Given the description of an element on the screen output the (x, y) to click on. 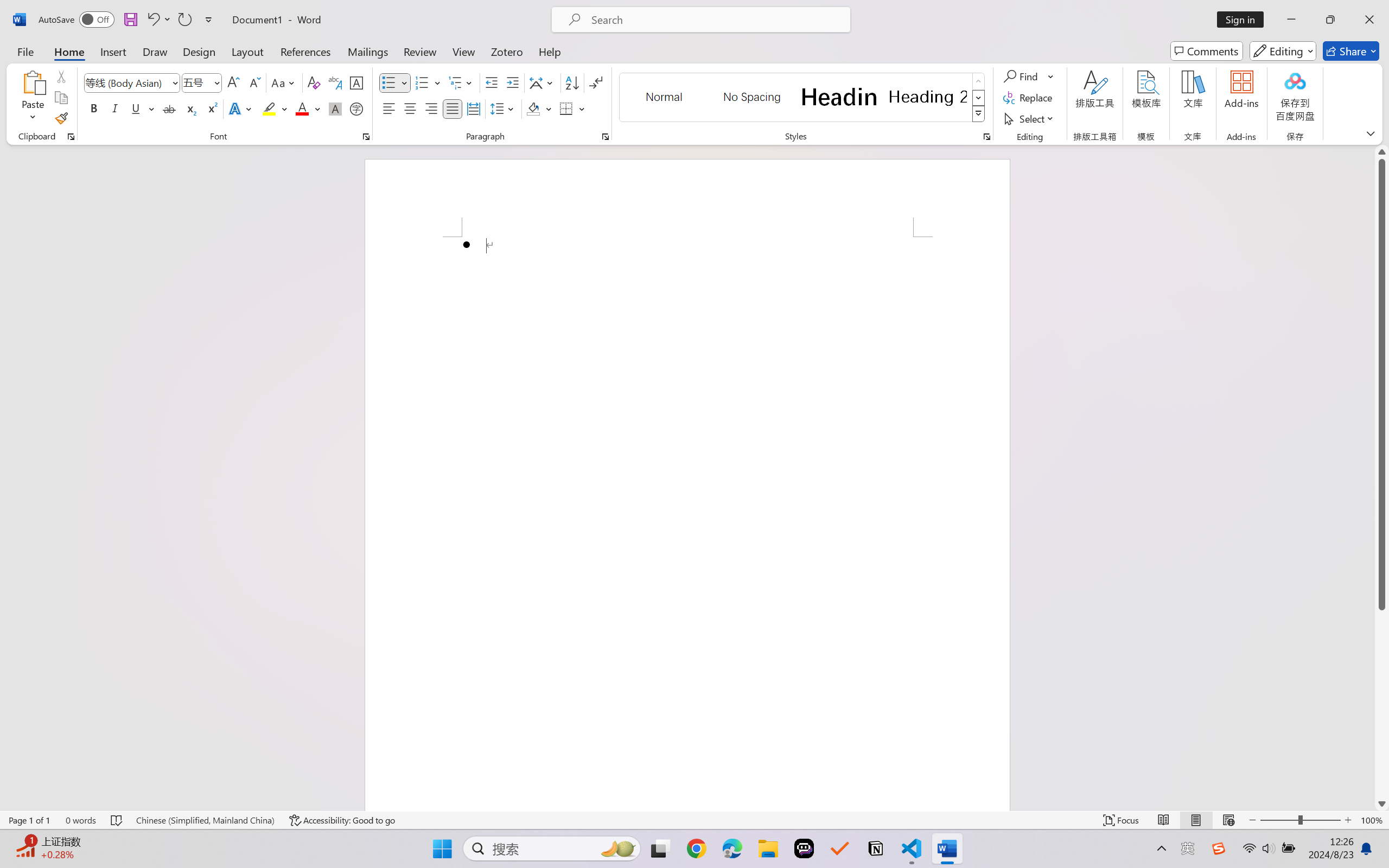
History (653, 345)
Afrikaans (433, 145)
Show the Input Tools menu (671, 245)
More target languages (827, 146)
Google Translate (600, 12)
Source text (505, 178)
